Given the description of an element on the screen output the (x, y) to click on. 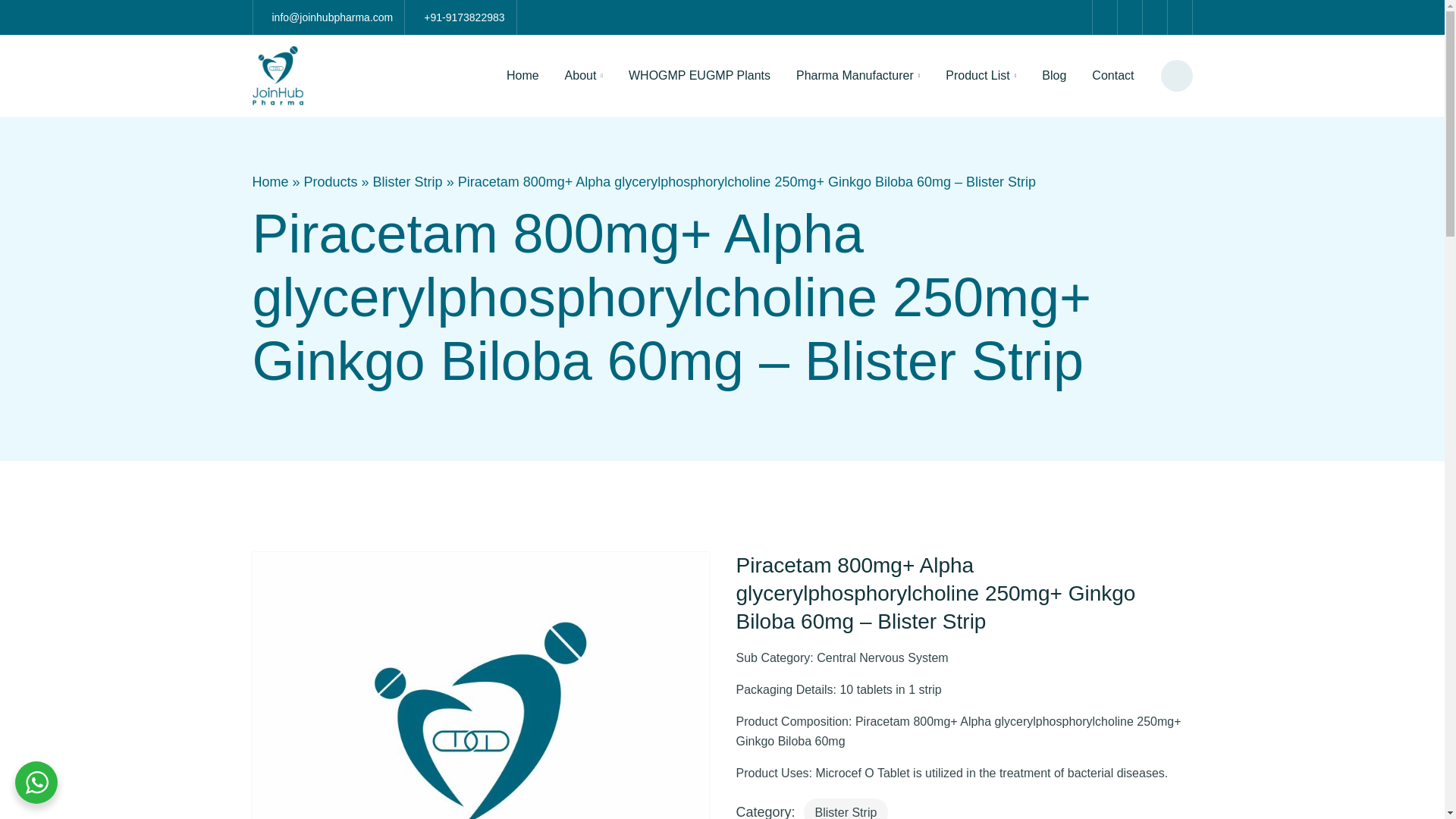
Blister Strip (407, 181)
Blog (1054, 75)
Contact (1112, 75)
WHOGMP EUGMP Plants (699, 75)
Products (331, 181)
About Us (583, 75)
Home (522, 75)
WHOGMP EUGMP Plants (699, 75)
Pharma Manufacturer (857, 75)
Home (269, 181)
